Given the description of an element on the screen output the (x, y) to click on. 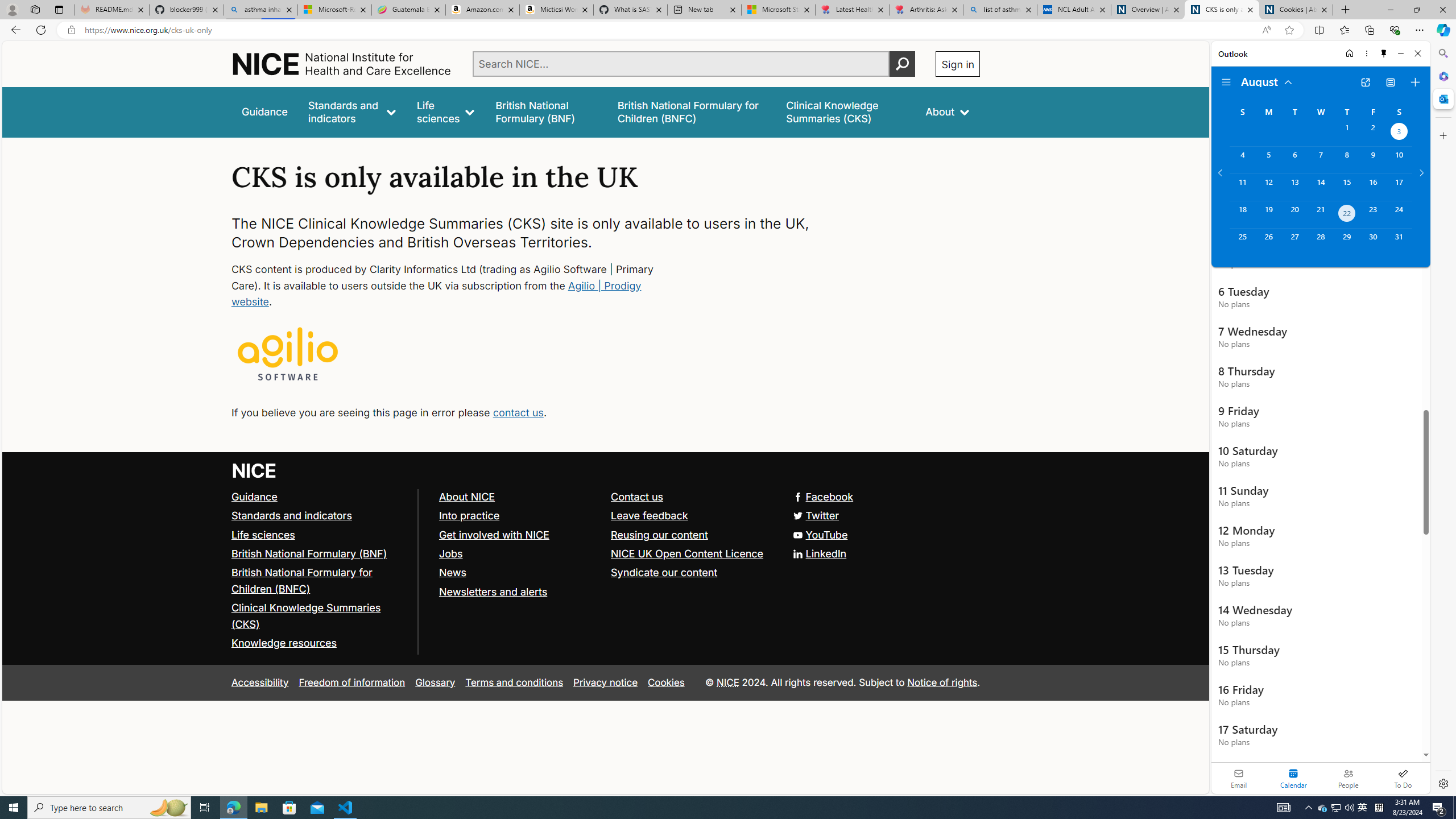
Thursday, August 22, 2024. Today.  (1346, 214)
Into practice (518, 515)
Guidance (254, 496)
Close Customize pane (1442, 135)
Syndicate our content (692, 572)
Open in new tab (1365, 82)
Freedom of information (352, 682)
Wednesday, August 7, 2024.  (1320, 159)
Reusing our content (692, 534)
